Given the description of an element on the screen output the (x, y) to click on. 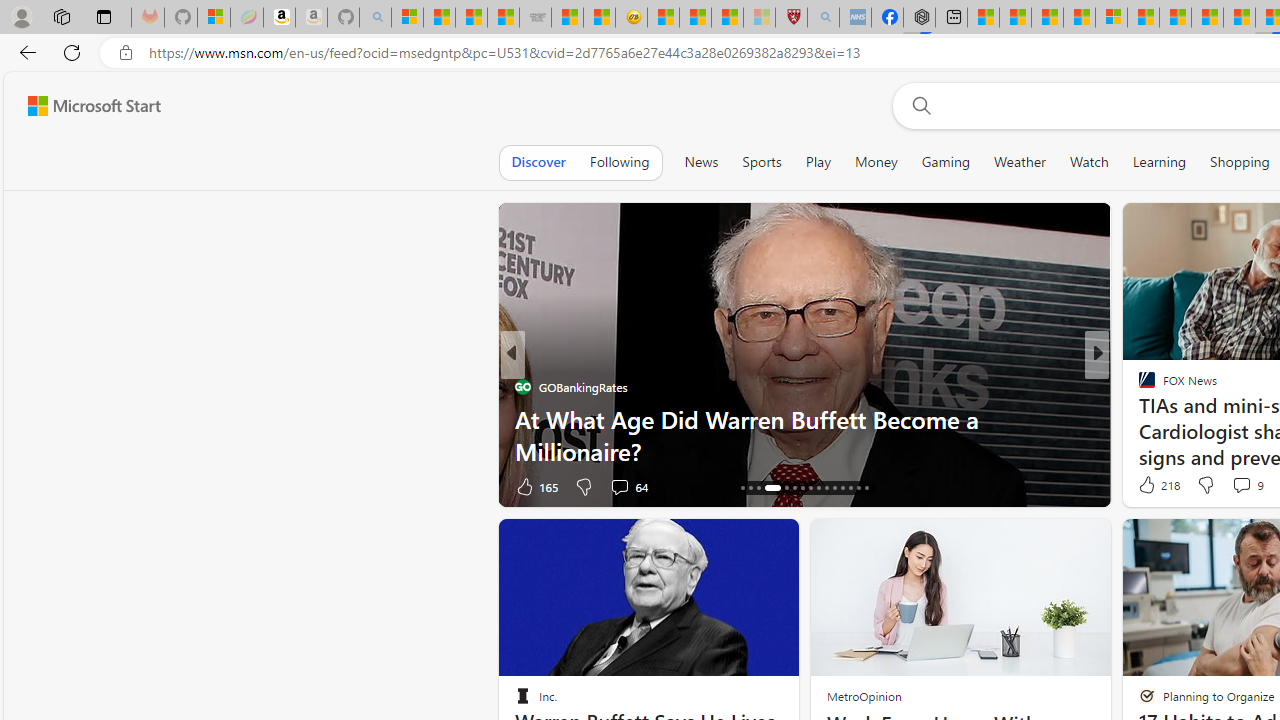
View comments 167 Comment (1234, 485)
876 Like (1151, 486)
42 Like (1149, 486)
604 Like (1151, 486)
View comments 11 Comment (1229, 485)
View comments 5 Comment (1234, 486)
12 Popular Science Lies that Must be Corrected - Sleeping (758, 17)
AutomationID: tab-18 (757, 487)
MetroOpinion (863, 696)
AutomationID: tab-17 (750, 487)
Deseret News (1138, 418)
